Given the description of an element on the screen output the (x, y) to click on. 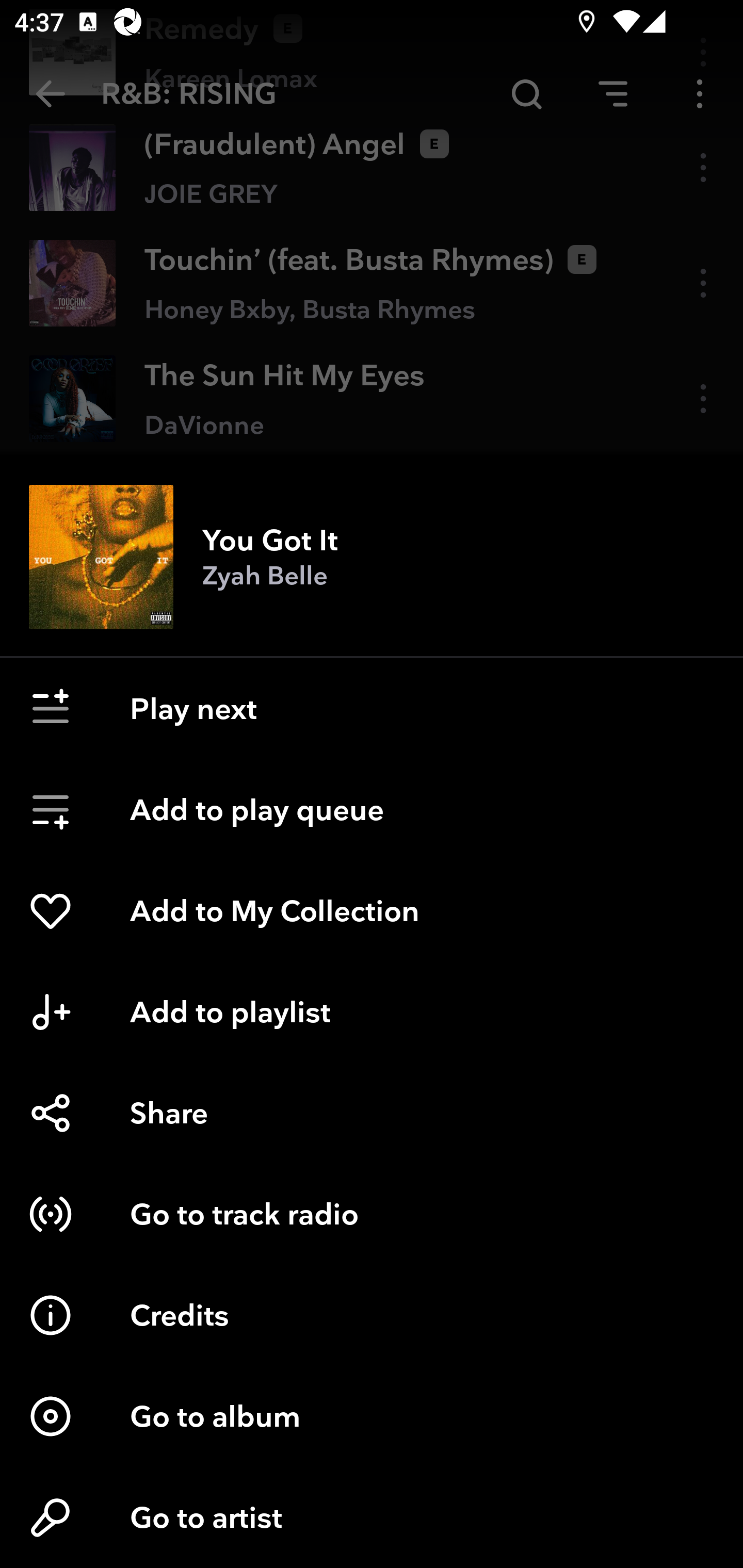
Play next (371, 708)
Add to play queue (371, 809)
Add to My Collection (371, 910)
Add to playlist (371, 1012)
Share (371, 1113)
Go to track radio (371, 1214)
Credits (371, 1315)
Go to album (371, 1416)
Go to artist (371, 1517)
